Given the description of an element on the screen output the (x, y) to click on. 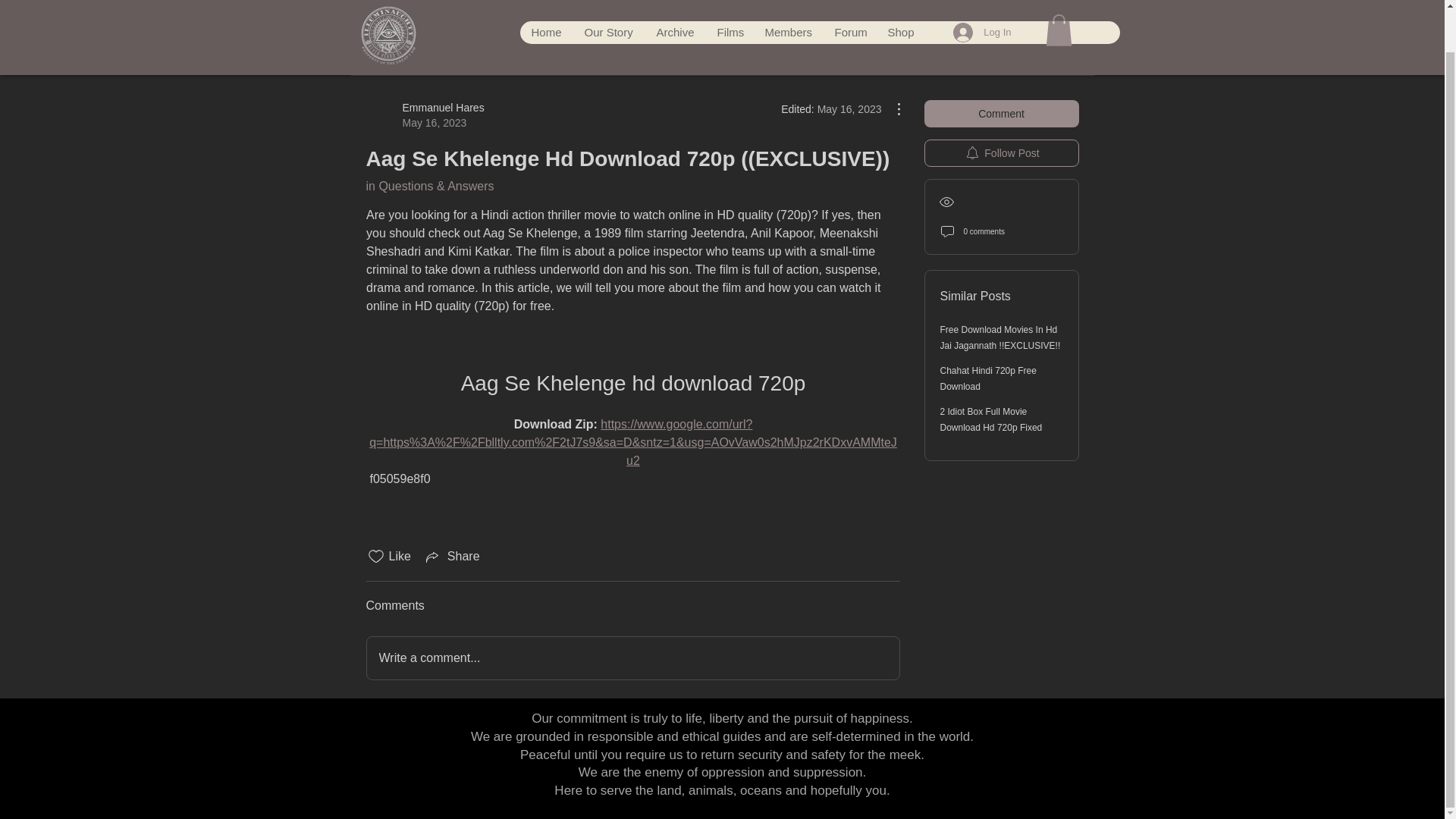
Categories (394, 52)
2 Idiot Box Full Movie Download Hd 720p Fixed (991, 419)
Log In (982, 1)
My Posts (532, 52)
Chahat Hindi 720p Free Download (988, 378)
Free Download Movies In Hd Jai Jagannath !!EXCLUSIVE!! (1000, 337)
Comment (1000, 113)
All Posts (465, 52)
Follow Post (424, 114)
